Given the description of an element on the screen output the (x, y) to click on. 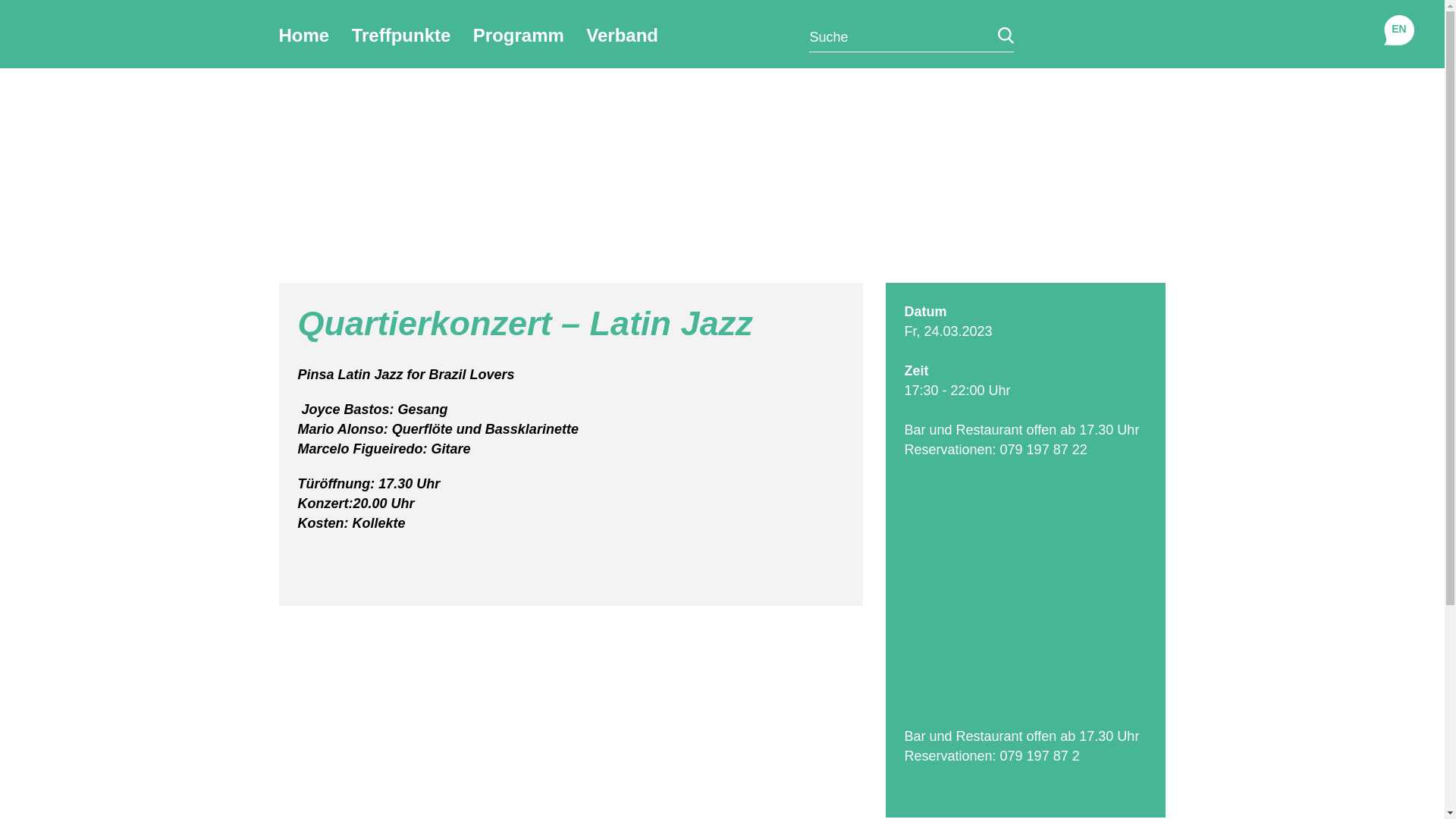
Suche (1005, 35)
Suche (1005, 35)
Suche (1005, 35)
Programm (518, 35)
EN (1398, 28)
Home (304, 35)
Treffpunkte (401, 35)
Verband (622, 35)
